Given the description of an element on the screen output the (x, y) to click on. 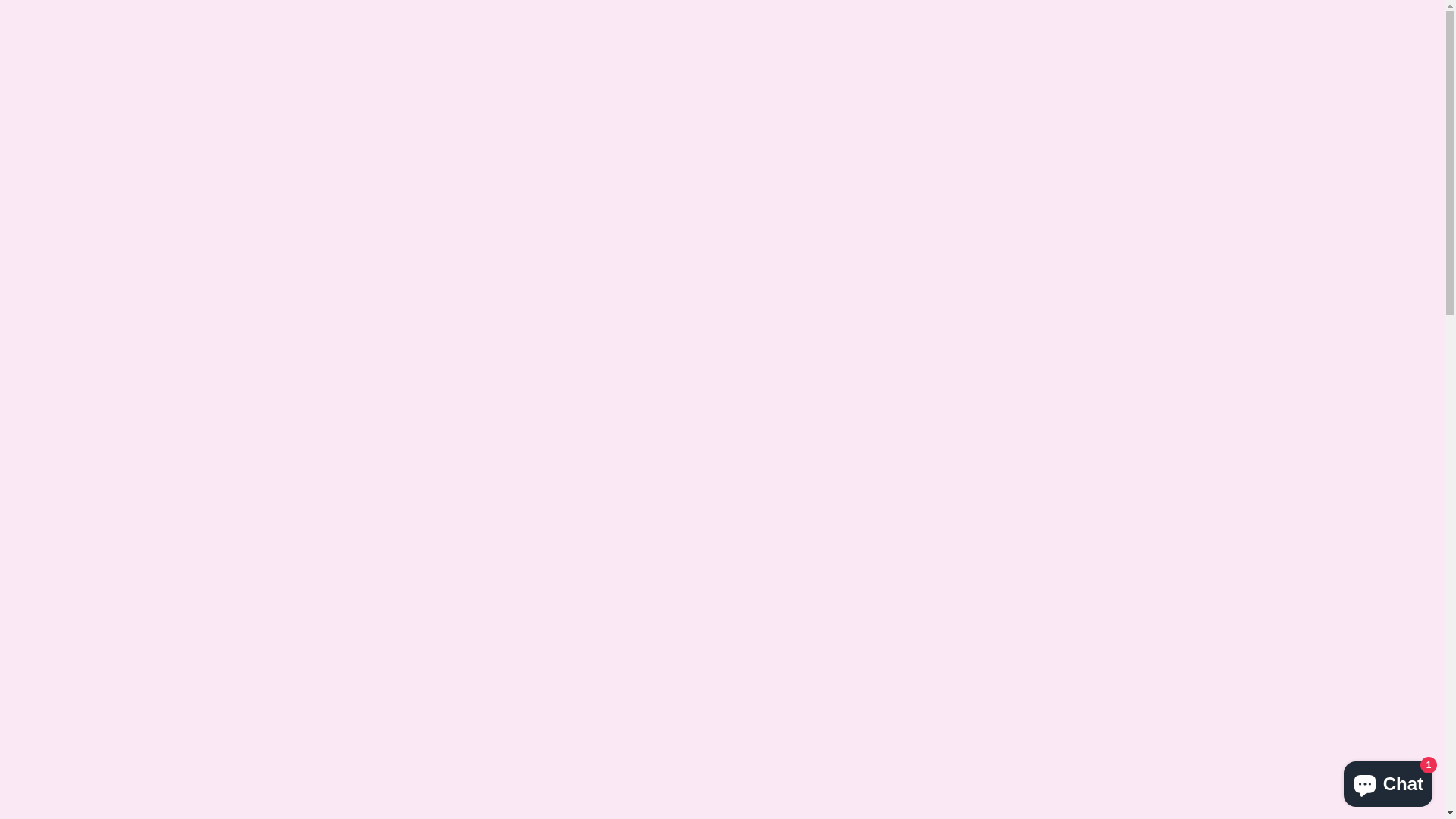
Shopify online store chat Element type: hover (1388, 780)
